Given the description of an element on the screen output the (x, y) to click on. 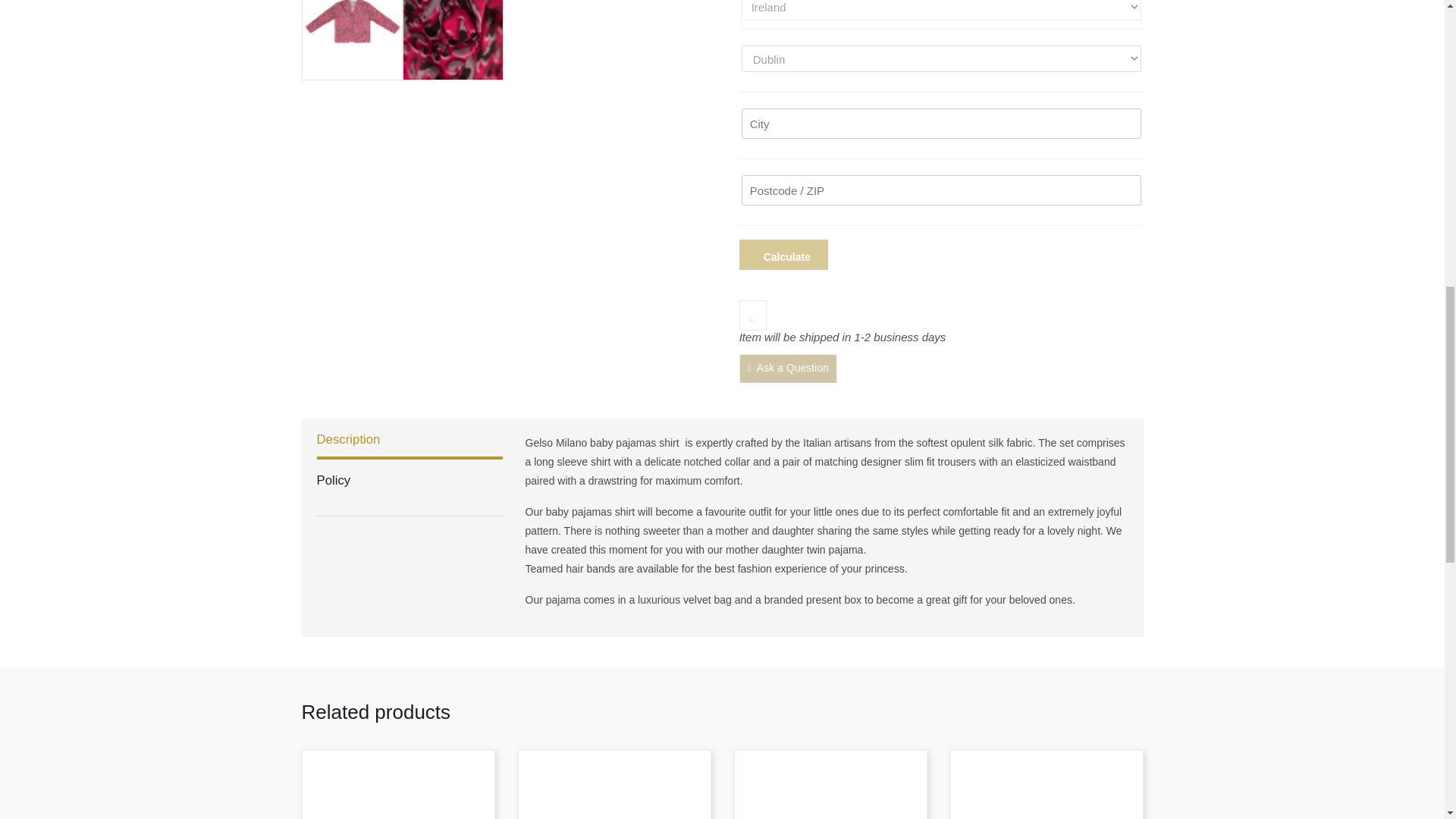
Calculate (783, 254)
